Given the description of an element on the screen output the (x, y) to click on. 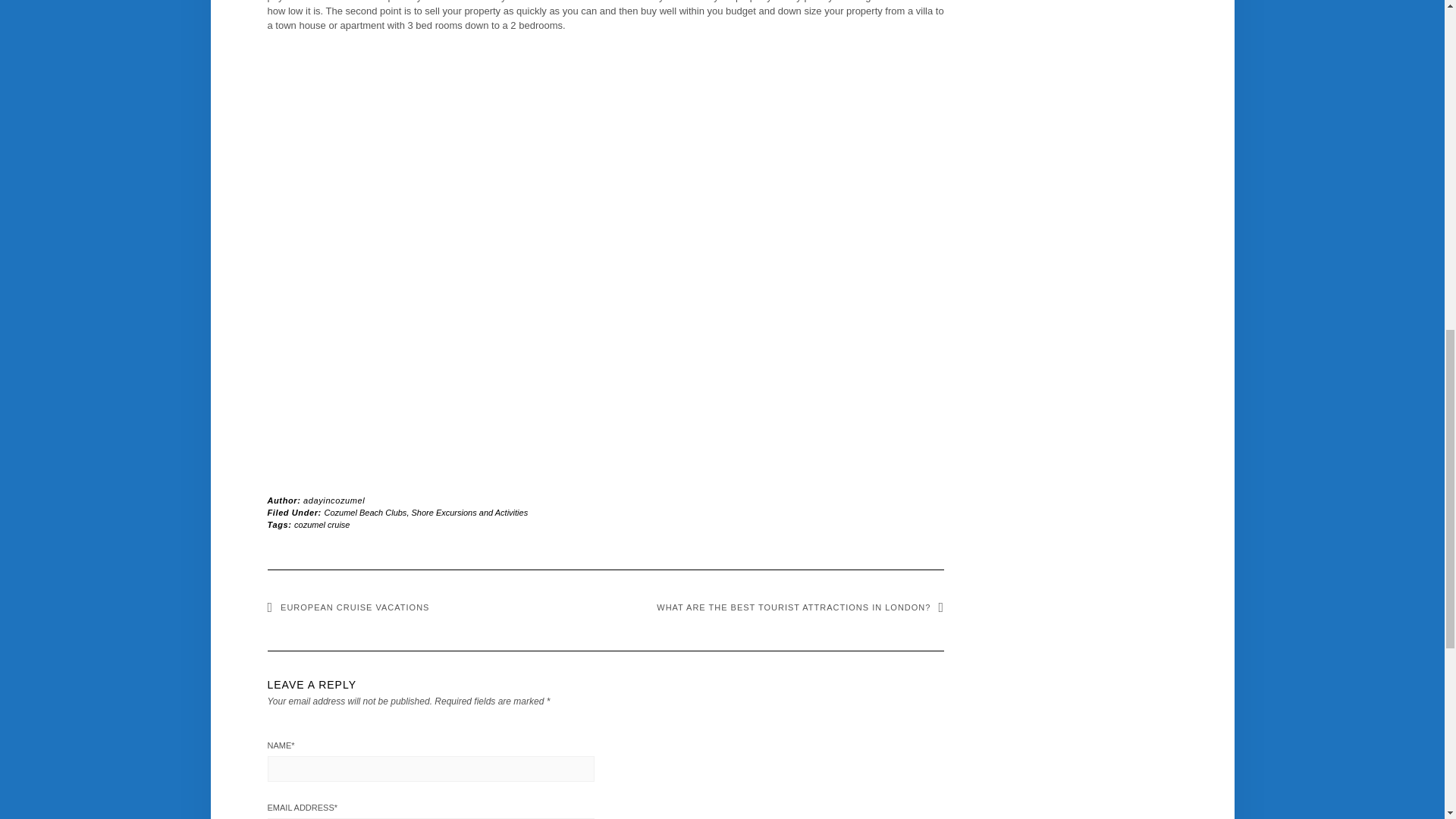
Cozumel Beach Clubs (365, 511)
EUROPEAN CRUISE VACATIONS (347, 606)
adayincozumel (333, 500)
Shore Excursions and Activities (468, 511)
cozumel cruise (321, 524)
WHAT ARE THE BEST TOURIST ATTRACTIONS IN LONDON? (799, 606)
Posts by adayincozumel (333, 500)
